Given the description of an element on the screen output the (x, y) to click on. 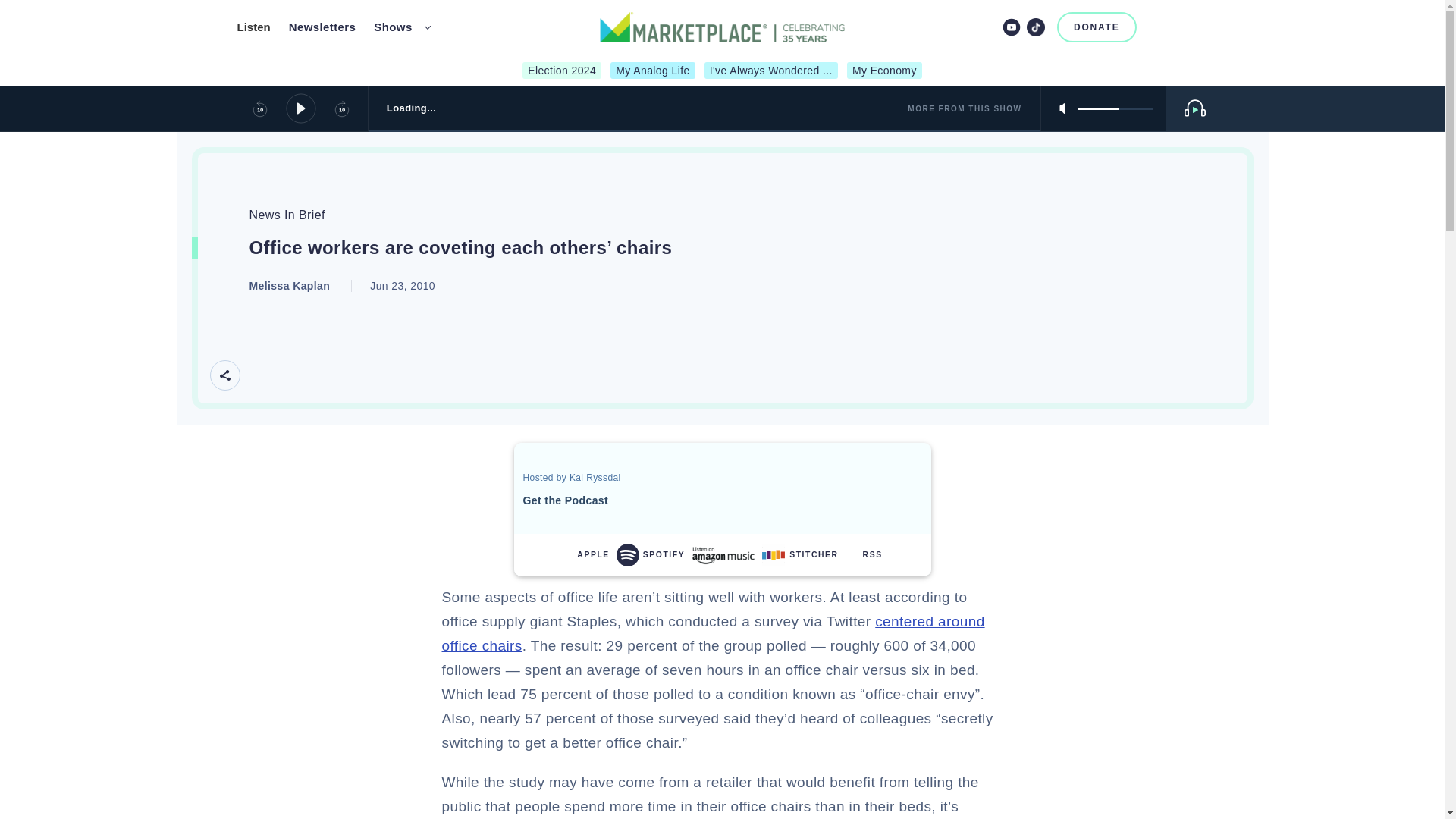
Shows (393, 26)
Facebook (962, 27)
Listen (252, 26)
Youtube (1011, 27)
TikTok (1035, 27)
Search (1164, 27)
DONATE (1097, 27)
volume (1115, 108)
Instagram (985, 27)
Newsletters (322, 27)
